Given the description of an element on the screen output the (x, y) to click on. 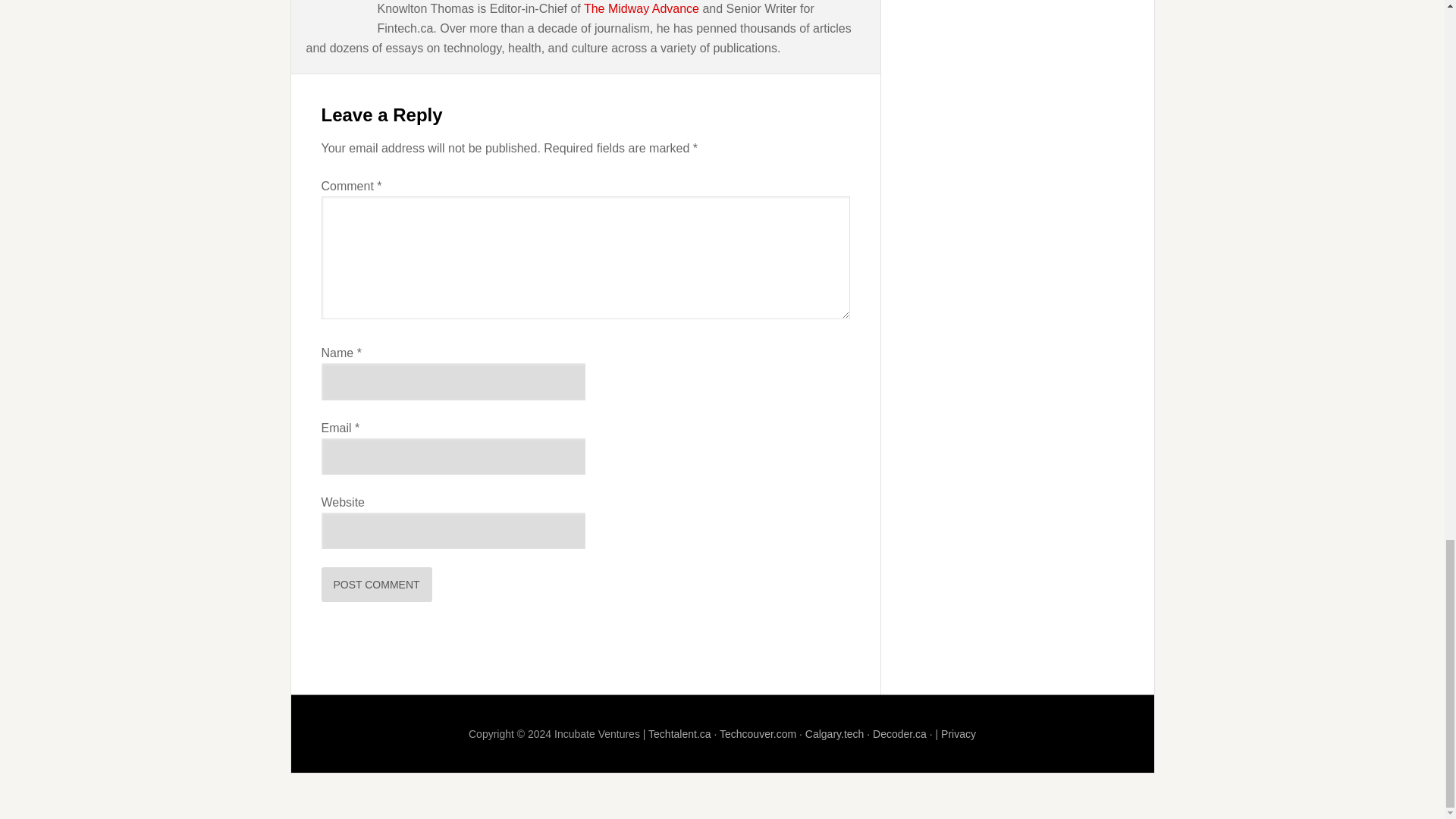
Post Comment (376, 584)
Post Comment (376, 584)
The Midway Advance (640, 8)
